Given the description of an element on the screen output the (x, y) to click on. 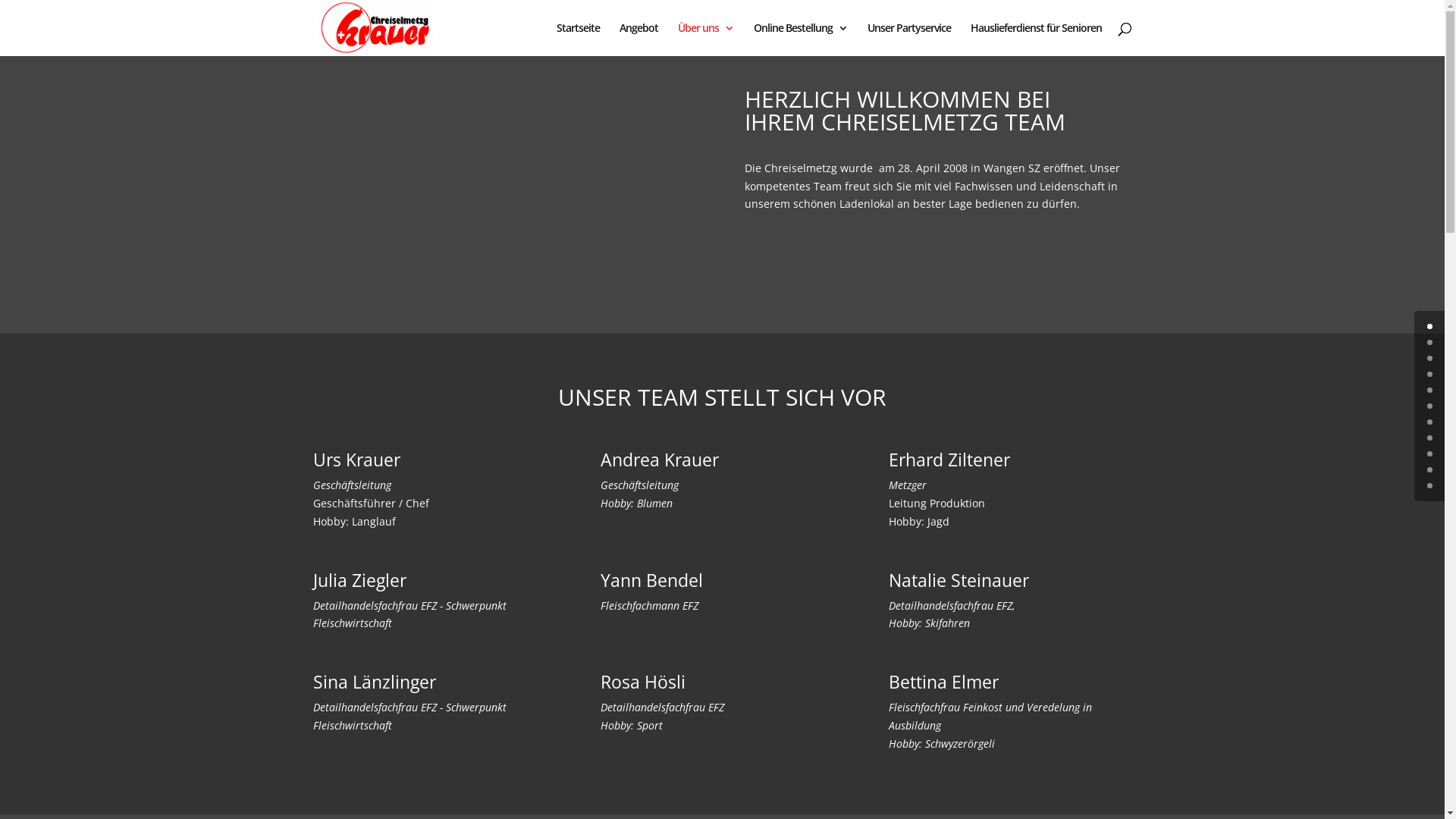
6 Element type: text (1429, 421)
10 Element type: text (1429, 485)
4 Element type: text (1429, 389)
7 Element type: text (1429, 437)
8 Element type: text (1429, 453)
0 Element type: text (1429, 326)
3 Element type: text (1429, 373)
2 Element type: text (1429, 357)
9 Element type: text (1429, 469)
Unser Partyservice Element type: text (908, 39)
5 Element type: text (1429, 405)
1 Element type: text (1429, 342)
Startseite Element type: text (577, 39)
Angebot Element type: text (637, 39)
Online Bestellung Element type: text (800, 39)
